Given the description of an element on the screen output the (x, y) to click on. 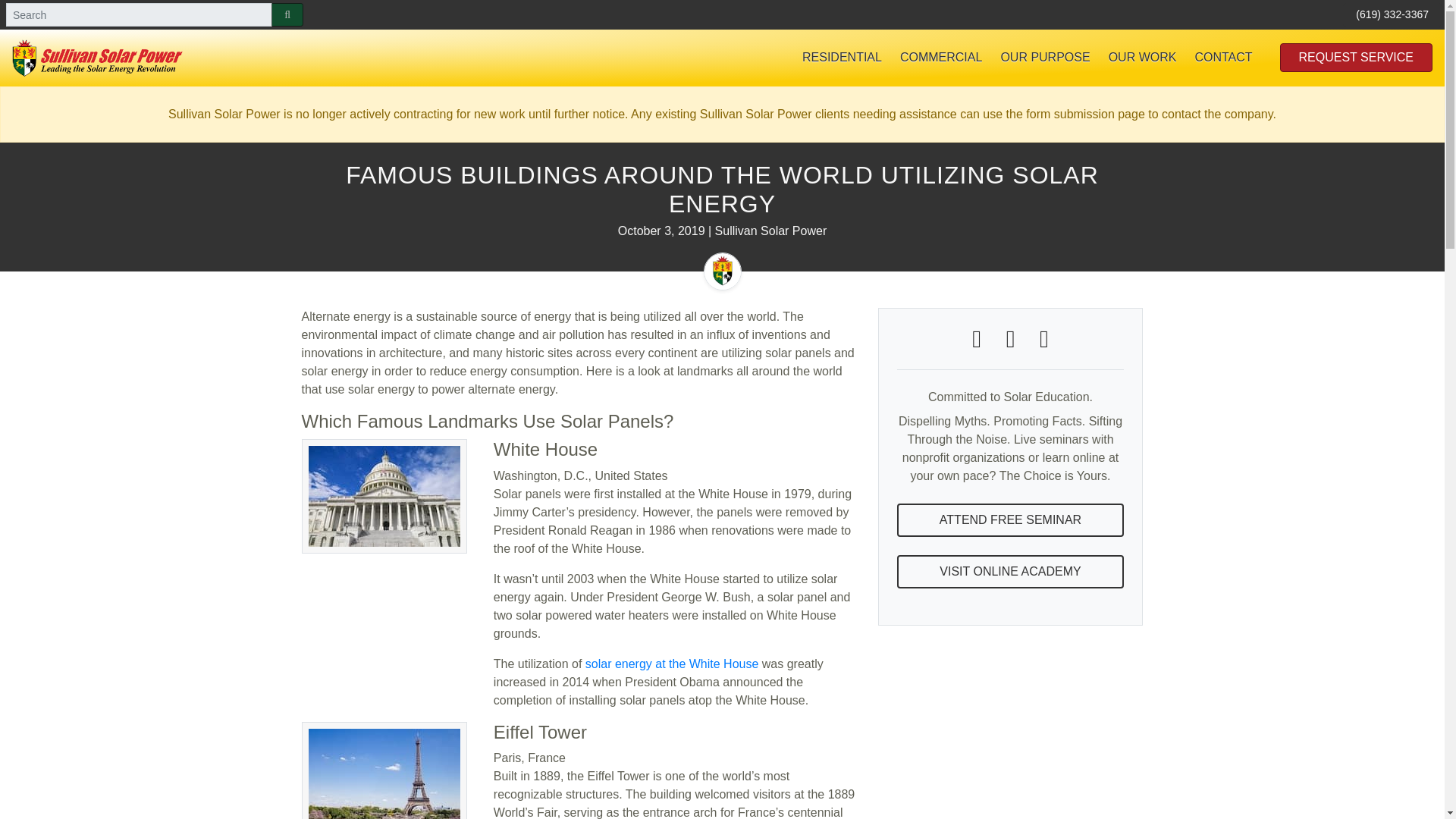
REQUEST SERVICE (1355, 57)
OUR WORK (1142, 57)
RESIDENTIAL (842, 57)
solar energy at the White House (671, 662)
CONTACT (1222, 57)
OUR PURPOSE (1045, 57)
COMMERCIAL (941, 57)
